Given the description of an element on the screen output the (x, y) to click on. 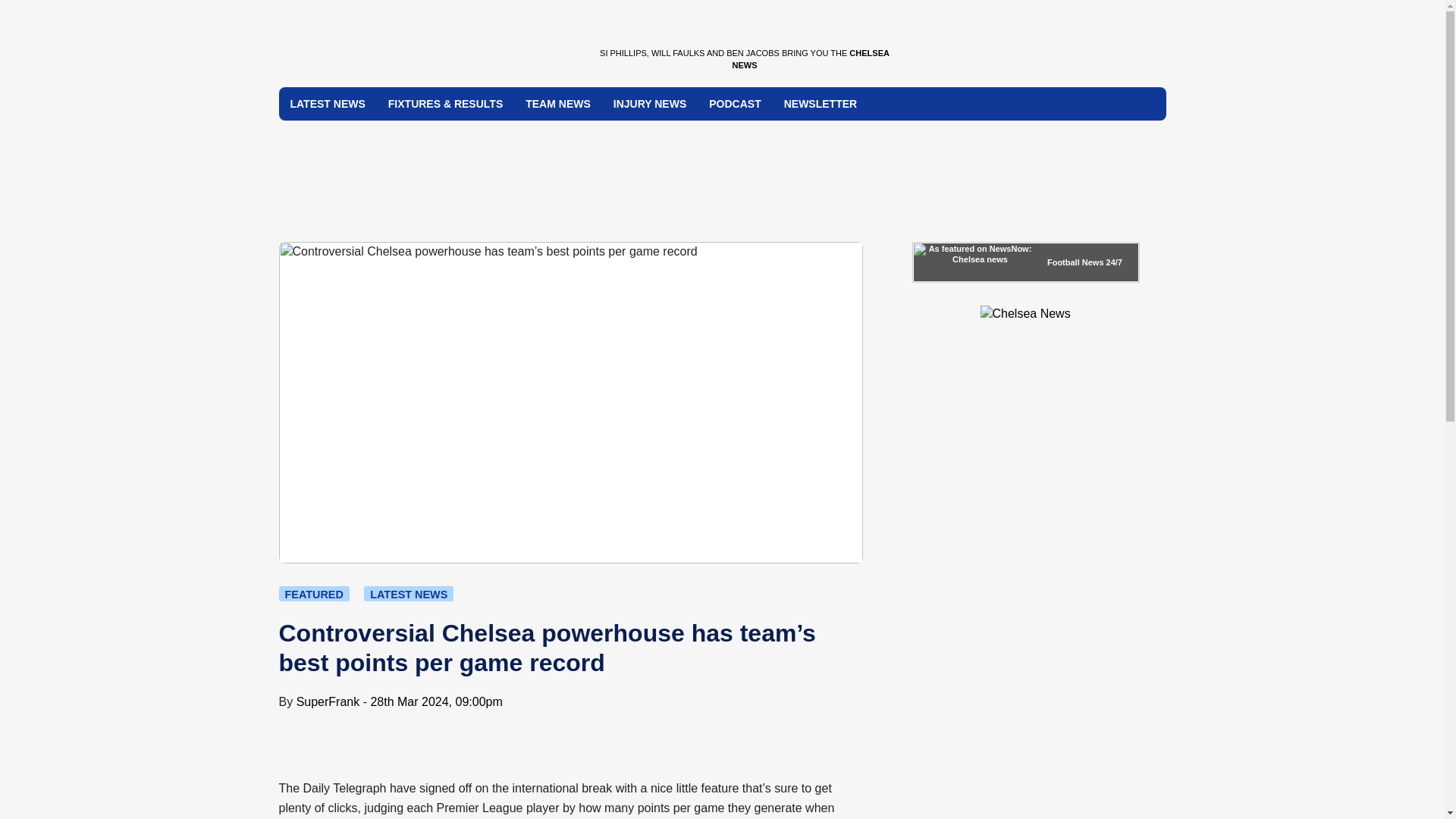
Latest Latest News News (408, 592)
Latest Featured News (314, 592)
28th Mar 2024, 09:00pm (435, 701)
TEAM NEWS (557, 103)
INJURY NEWS (649, 103)
Football News (1074, 261)
FEATURED (314, 592)
LATEST NEWS (408, 592)
PODCAST (734, 103)
